Given the description of an element on the screen output the (x, y) to click on. 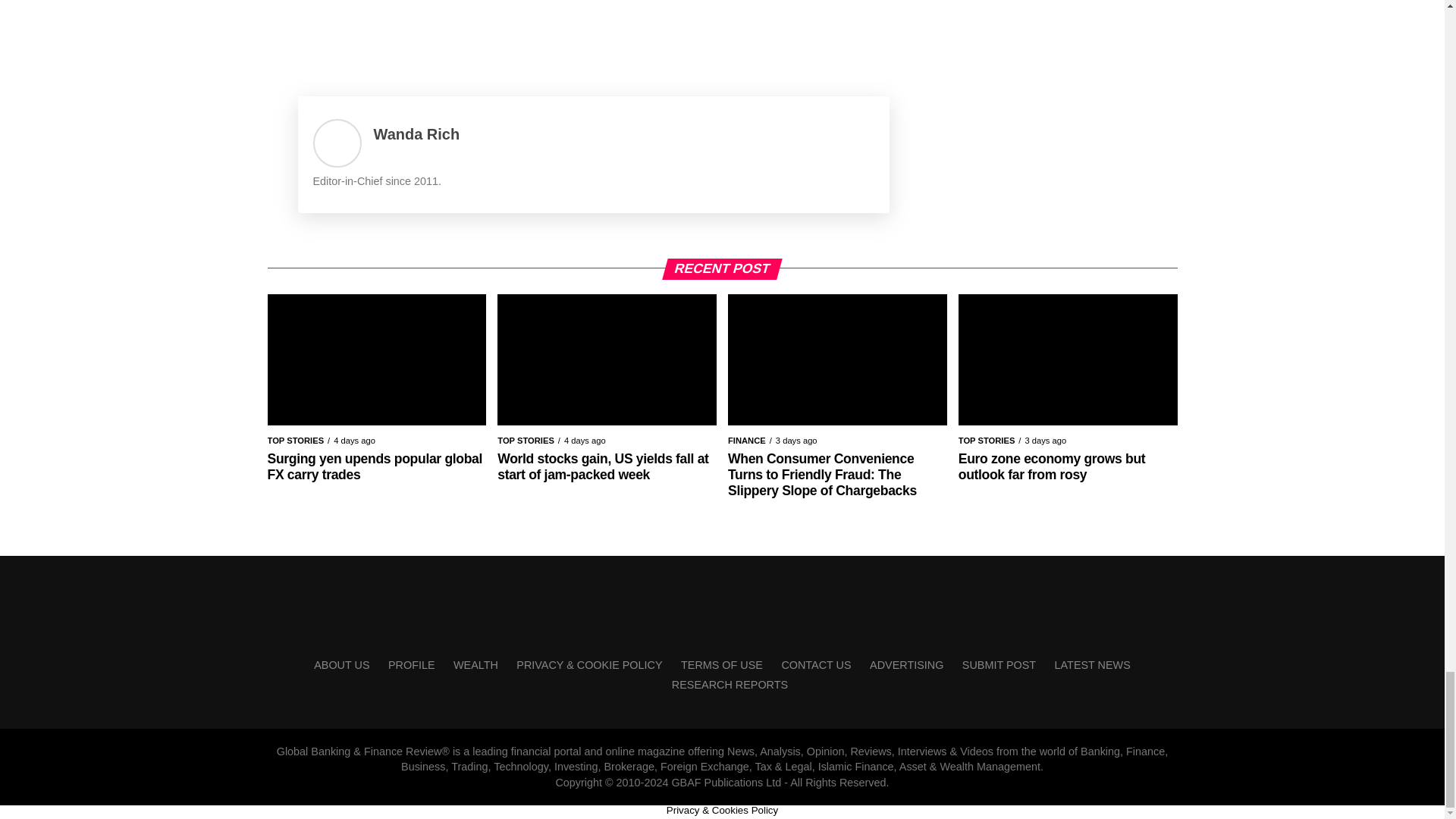
Wanda Rich (416, 134)
Share on Facebook (314, 39)
Share on Linkedin (393, 39)
Share on Twitter (354, 39)
